Given the description of an element on the screen output the (x, y) to click on. 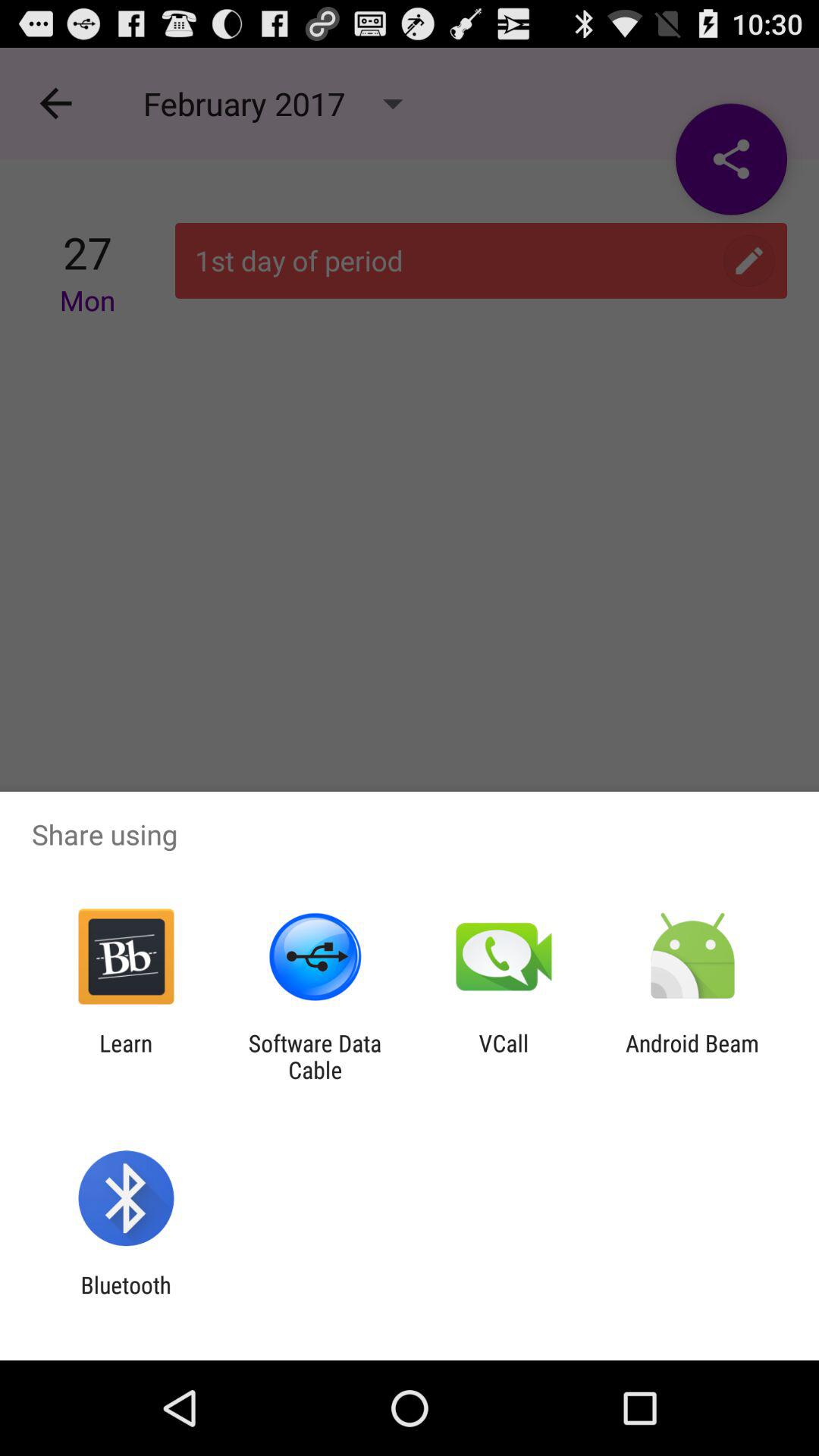
scroll to the software data cable app (314, 1056)
